Given the description of an element on the screen output the (x, y) to click on. 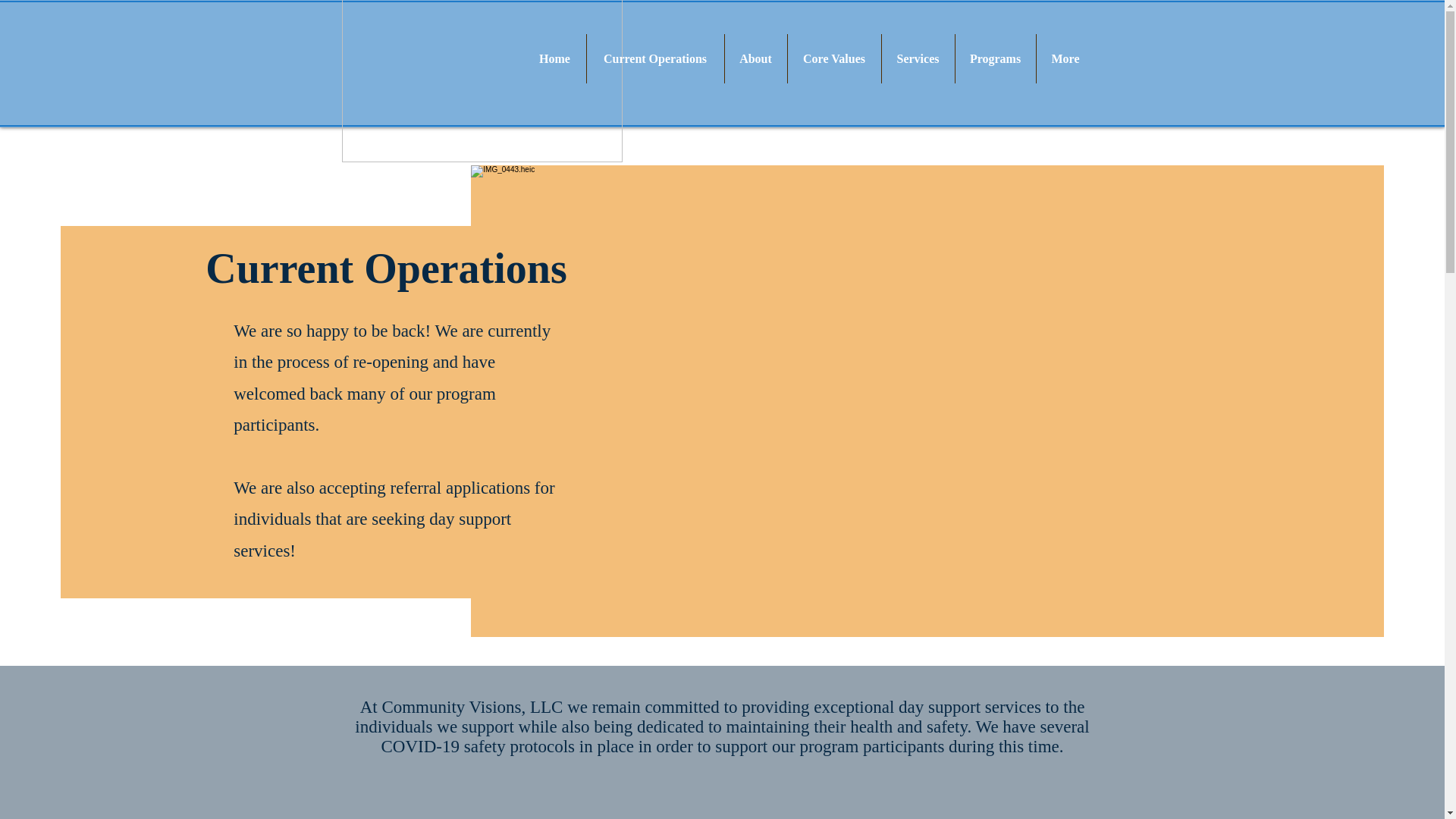
Current Operations (654, 58)
About (756, 58)
Core Values (833, 58)
Programs (995, 58)
Services (916, 58)
Home (553, 58)
